Given the description of an element on the screen output the (x, y) to click on. 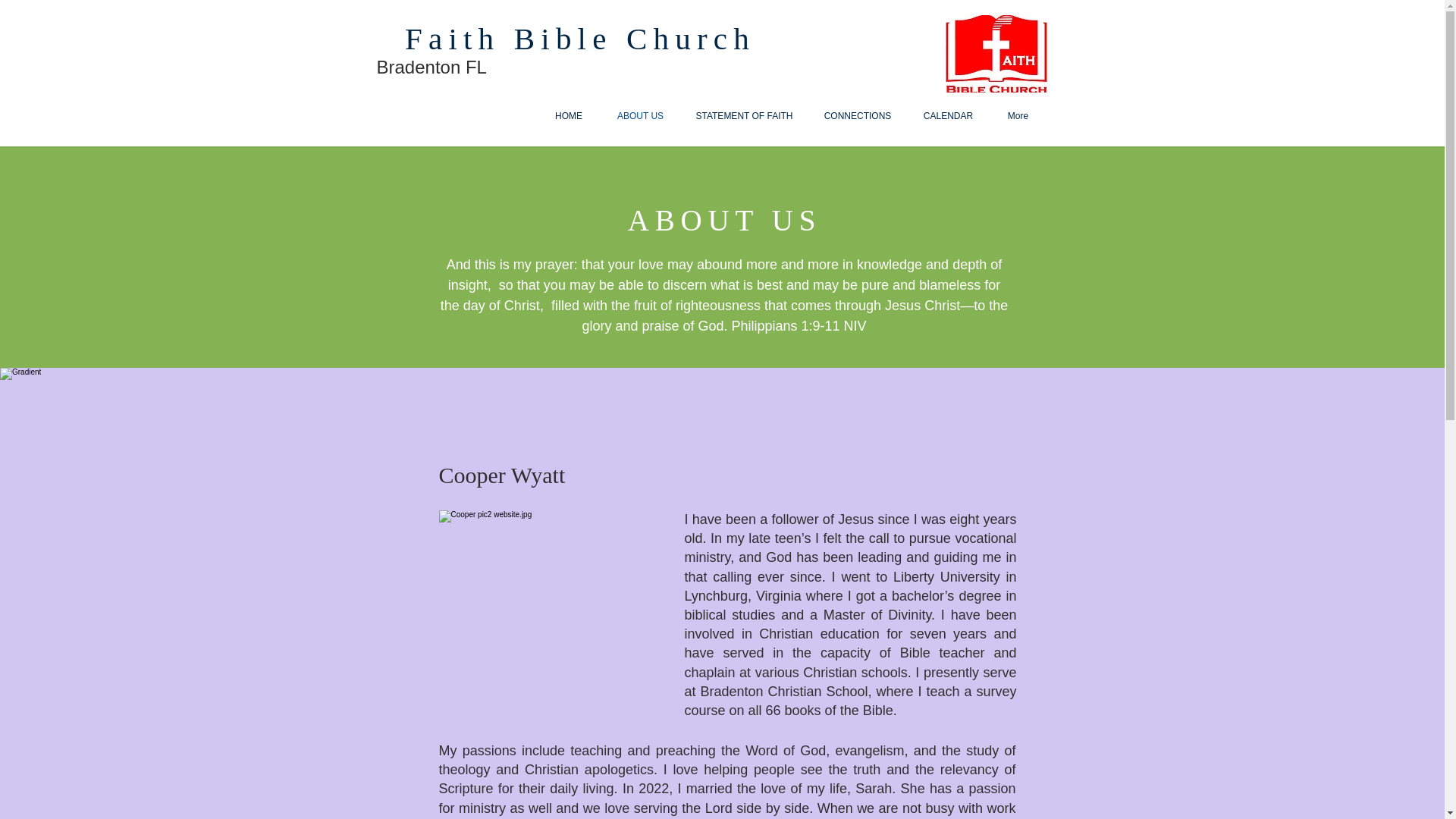
Faith Bible Church (579, 38)
CONNECTIONS (857, 116)
CALENDAR (947, 116)
STATEMENT OF FAITH (744, 116)
ABOUT US (640, 116)
HOME (568, 116)
